Given the description of an element on the screen output the (x, y) to click on. 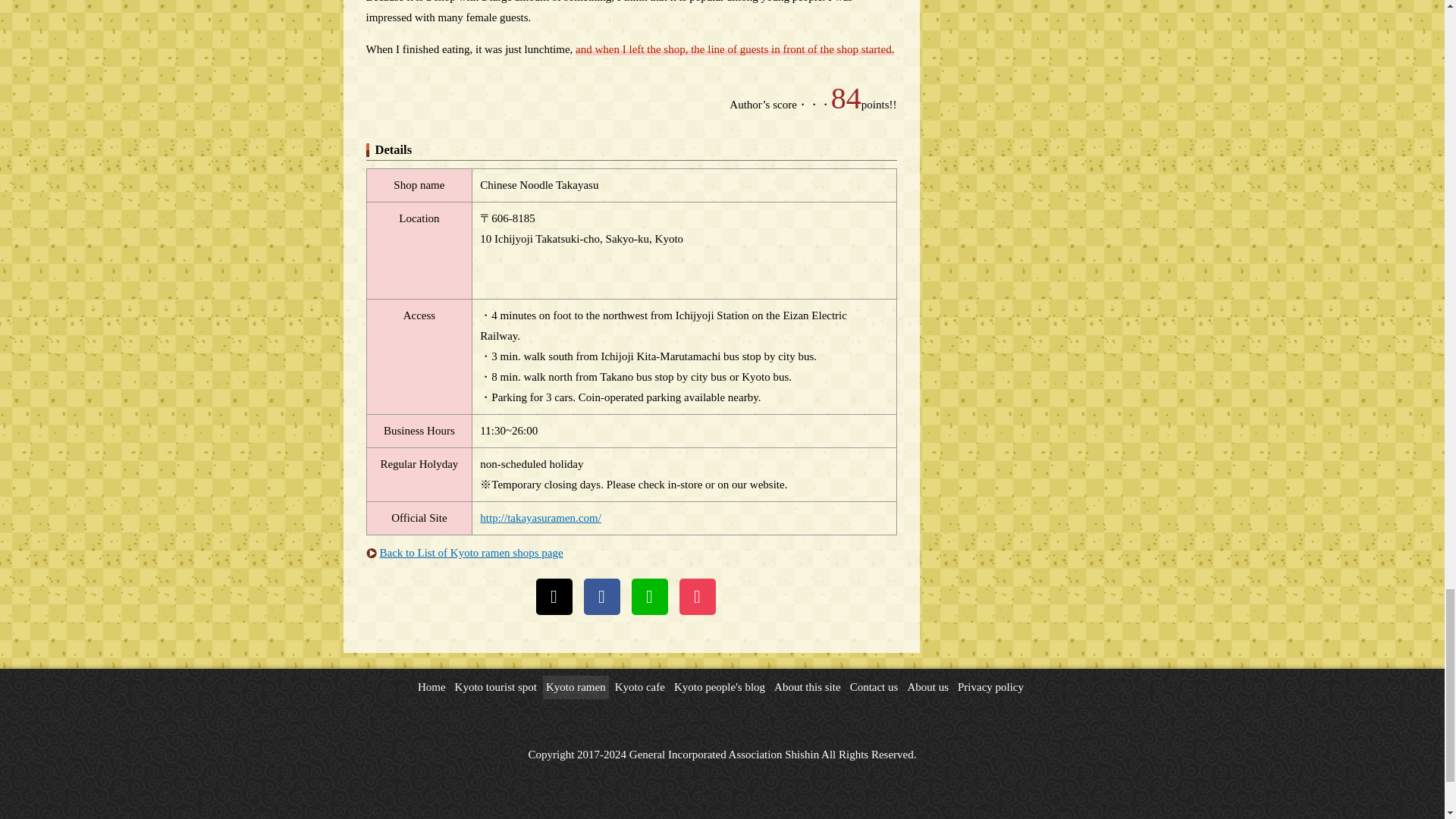
Back to List of Kyoto ramen shops page (470, 552)
